Given the description of an element on the screen output the (x, y) to click on. 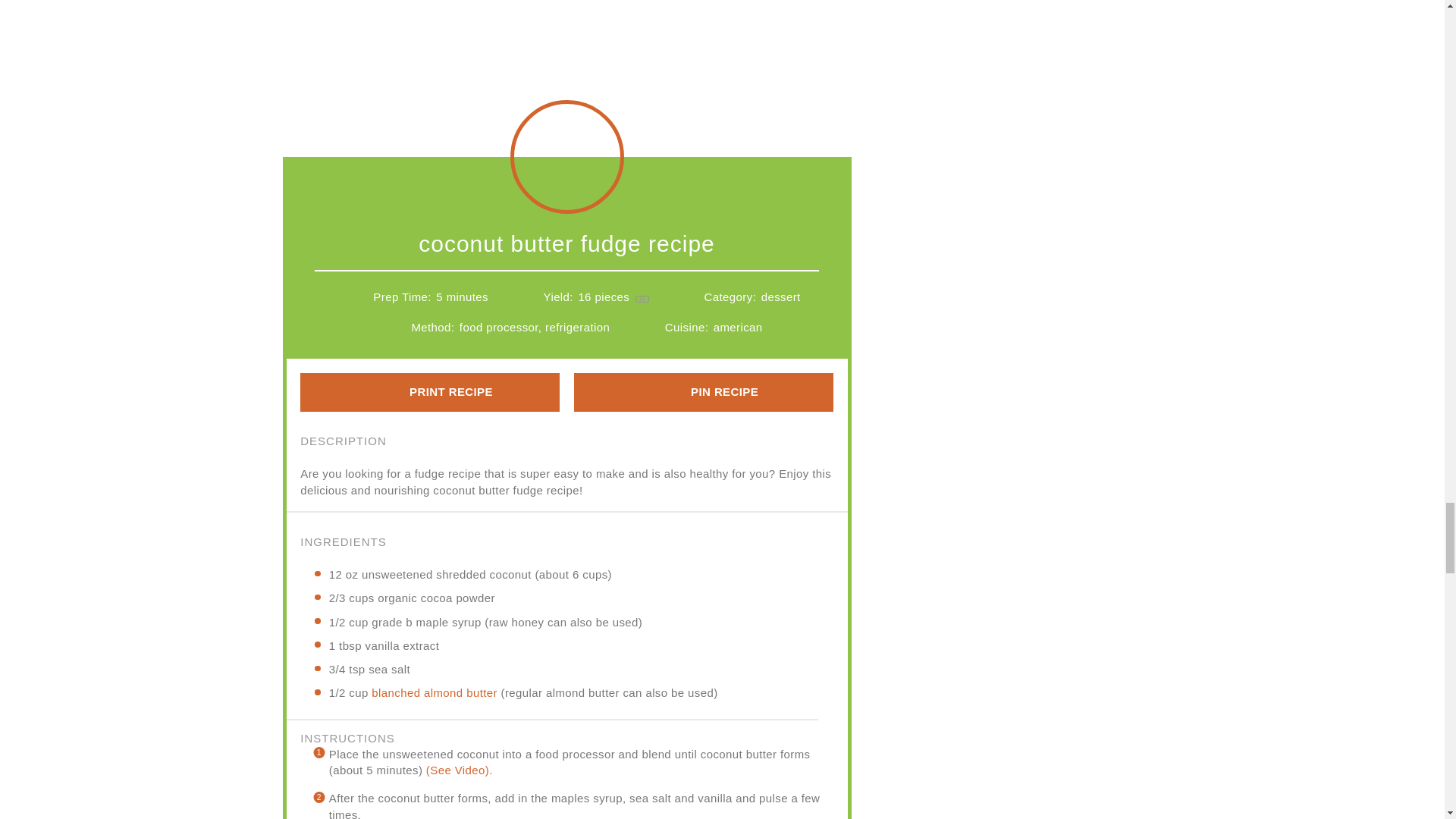
PIN RECIPE (702, 392)
blanched almond butter (434, 692)
PRINT RECIPE (429, 392)
